Given the description of an element on the screen output the (x, y) to click on. 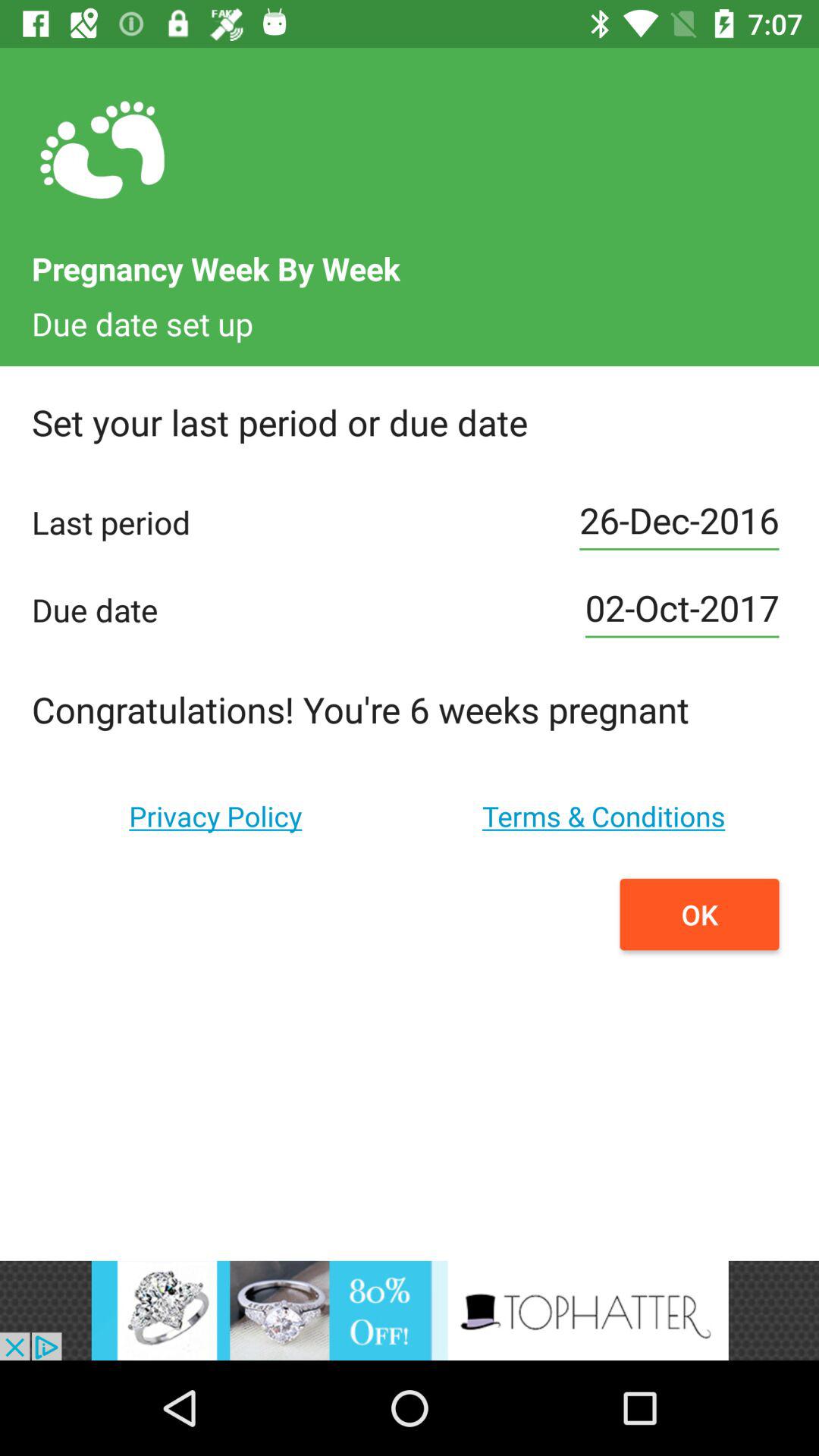
advertisement link (409, 1310)
